Given the description of an element on the screen output the (x, y) to click on. 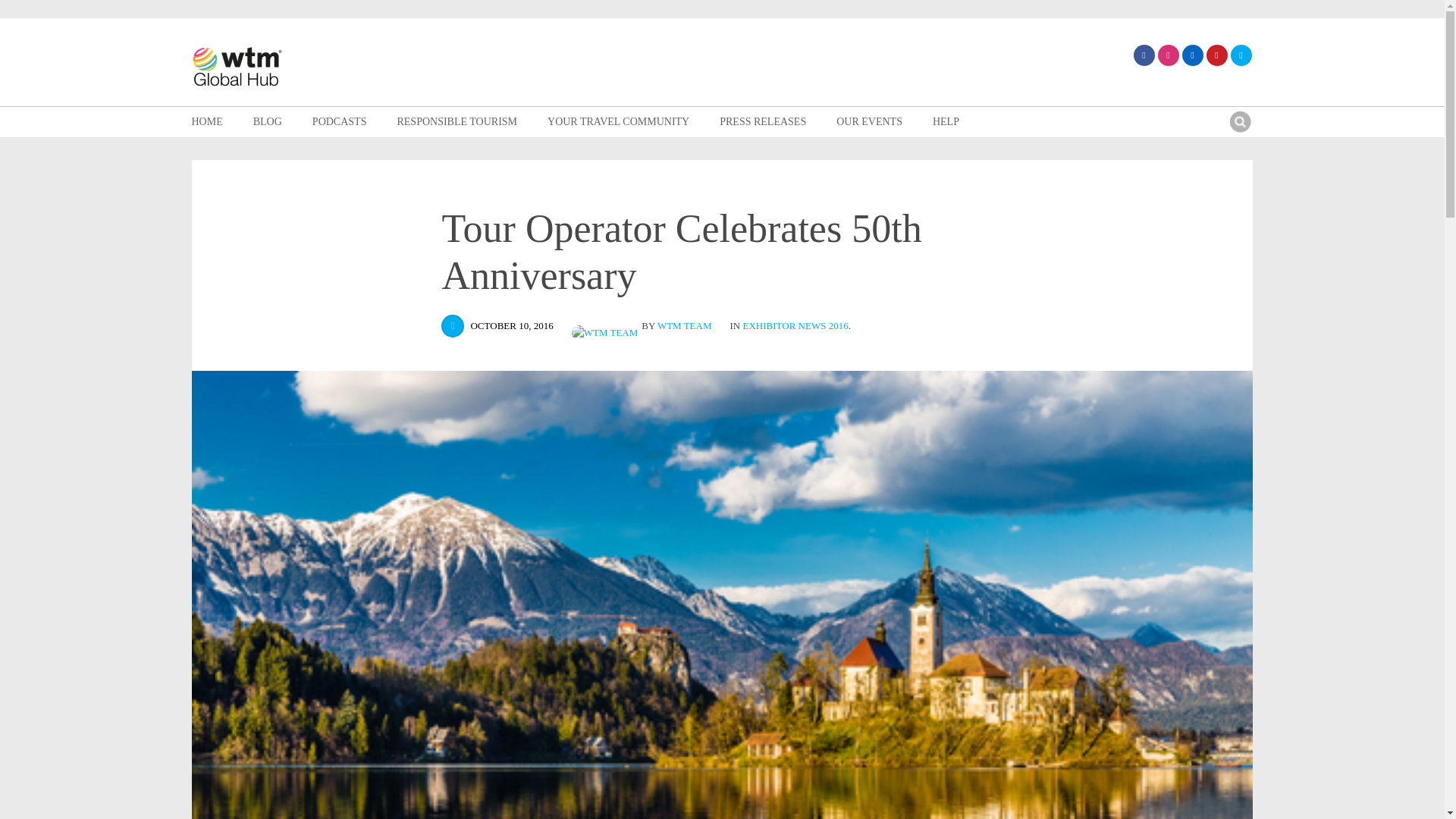
PODCASTS (339, 122)
Linkedin (1191, 55)
Twitter (1240, 55)
Posts by WTM Team (607, 325)
RESPONSIBLE TOURISM (456, 122)
Facebook (1143, 55)
Instagram (1167, 55)
YOUR TRAVEL COMMUNITY (617, 122)
9:42 am (511, 325)
HOME (206, 122)
BLOG (267, 122)
Search (1239, 121)
WTM Global Hub (236, 67)
